Given the description of an element on the screen output the (x, y) to click on. 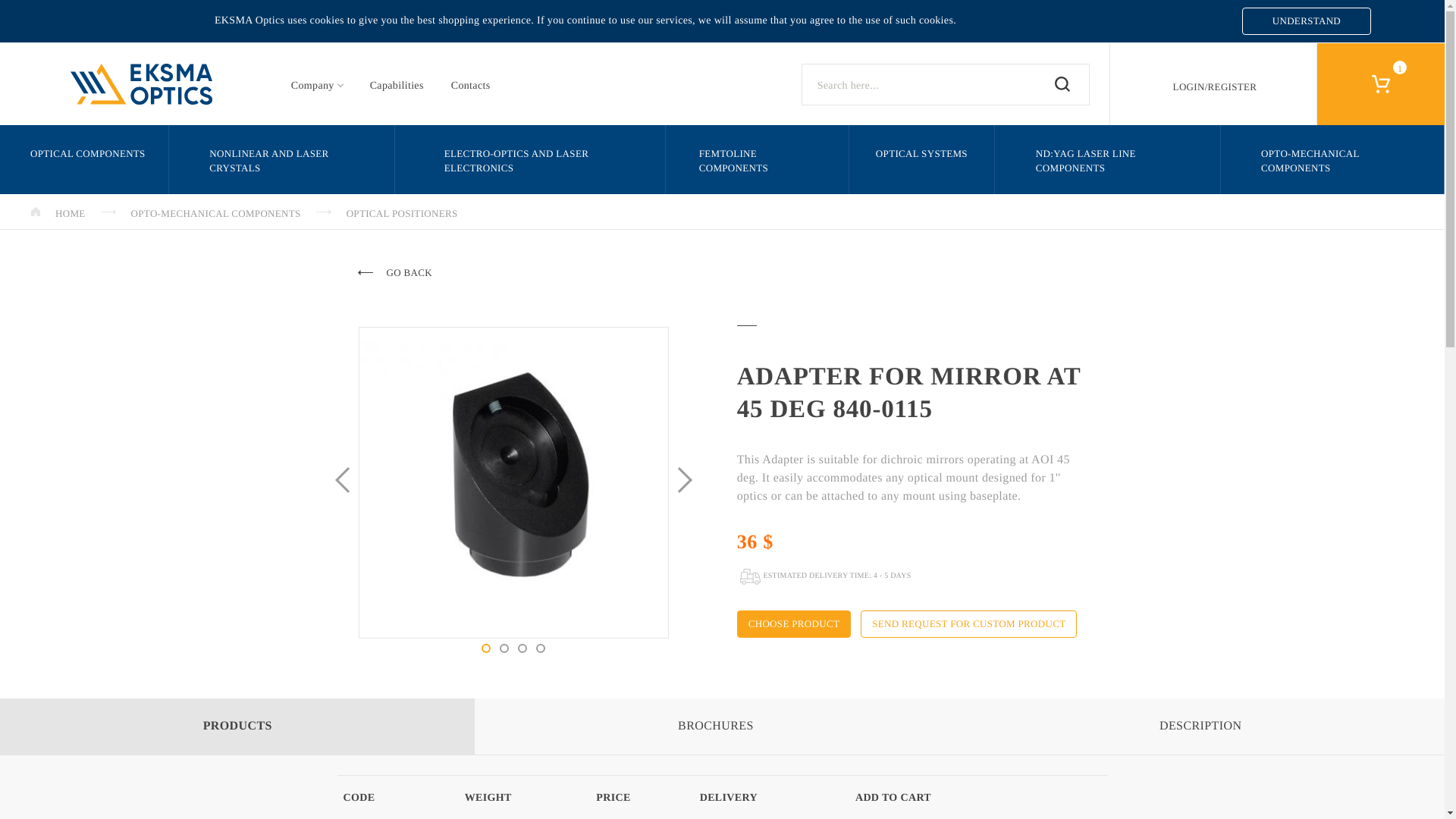
ELECTRO-OPTICS AND LASER ELECTRONICS (529, 159)
arrow--right (323, 211)
Opto-Mechanical Components (215, 212)
arrow--right (108, 211)
Capabilities (397, 85)
NONLINEAR AND LASER CRYSTALS (282, 159)
OPTICAL COMPONENTS (84, 159)
Contacts (470, 85)
